Given the description of an element on the screen output the (x, y) to click on. 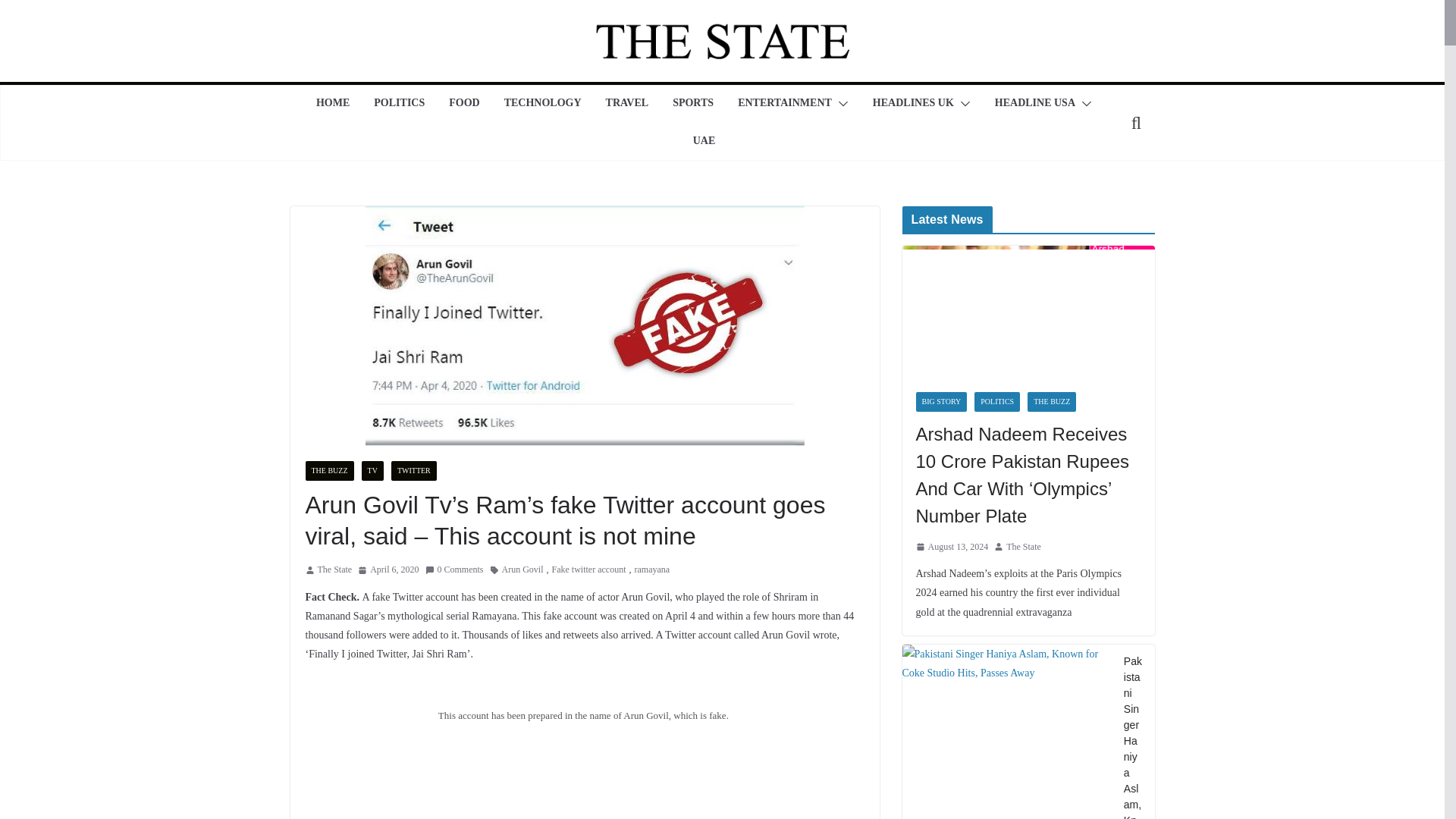
The State (334, 569)
TECHNOLOGY (541, 103)
The State (334, 569)
Arun Govil (522, 569)
HEADLINES UK (912, 103)
HEADLINE USA (1034, 103)
POLITICS (399, 103)
TV (372, 470)
TRAVEL (627, 103)
0 Comments (454, 569)
